Given the description of an element on the screen output the (x, y) to click on. 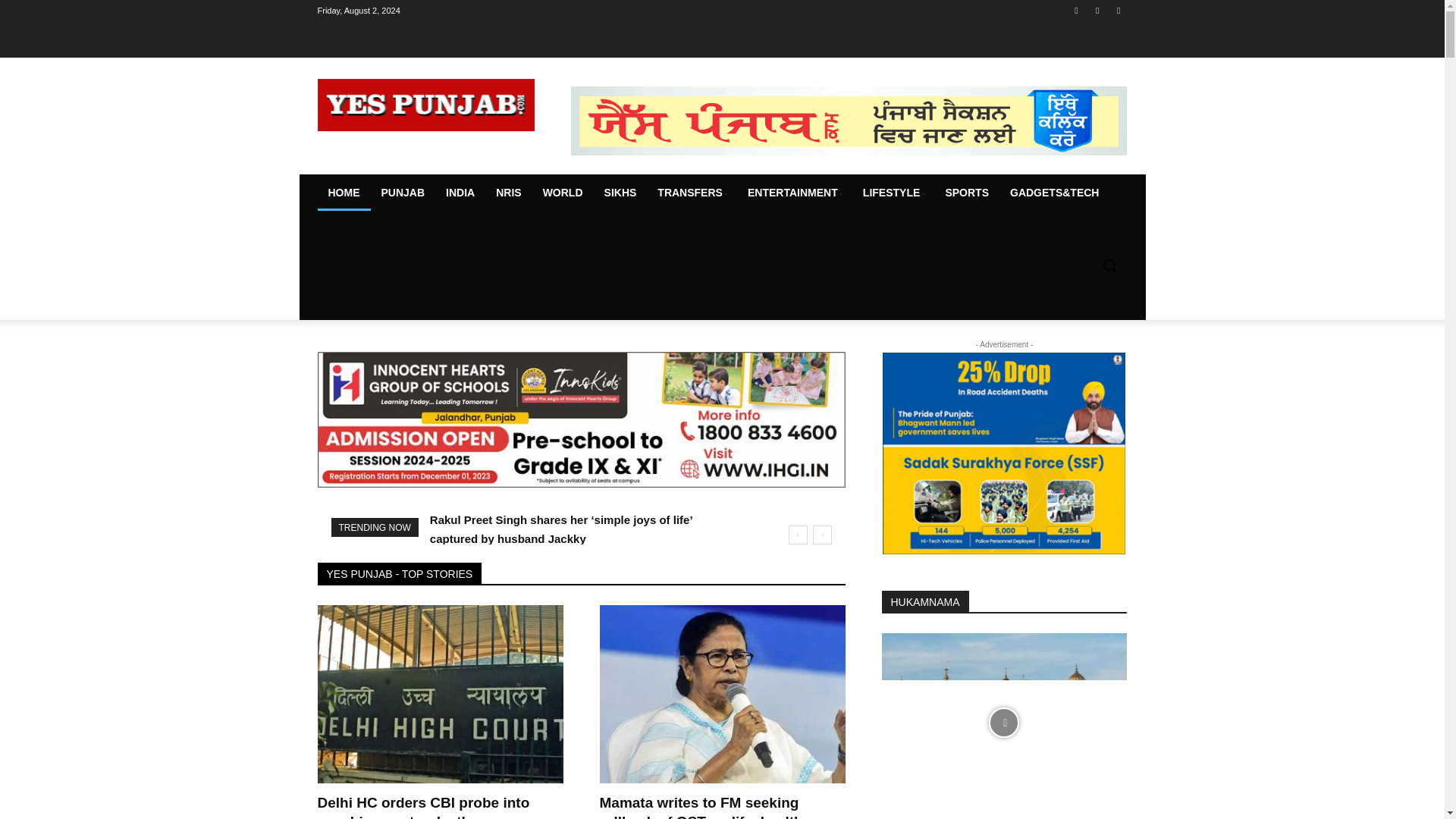
SIKHS (620, 192)
INDIA (459, 192)
Facebook (1075, 9)
Delhi HC orders CBI probe into coaching centre deaths (439, 693)
Delhi HC orders CBI probe into coaching centre deaths (423, 806)
TRANSFERS (691, 192)
PUNJAB (402, 192)
HOME (343, 192)
ENTERTAINMENT (793, 192)
